Given the description of an element on the screen output the (x, y) to click on. 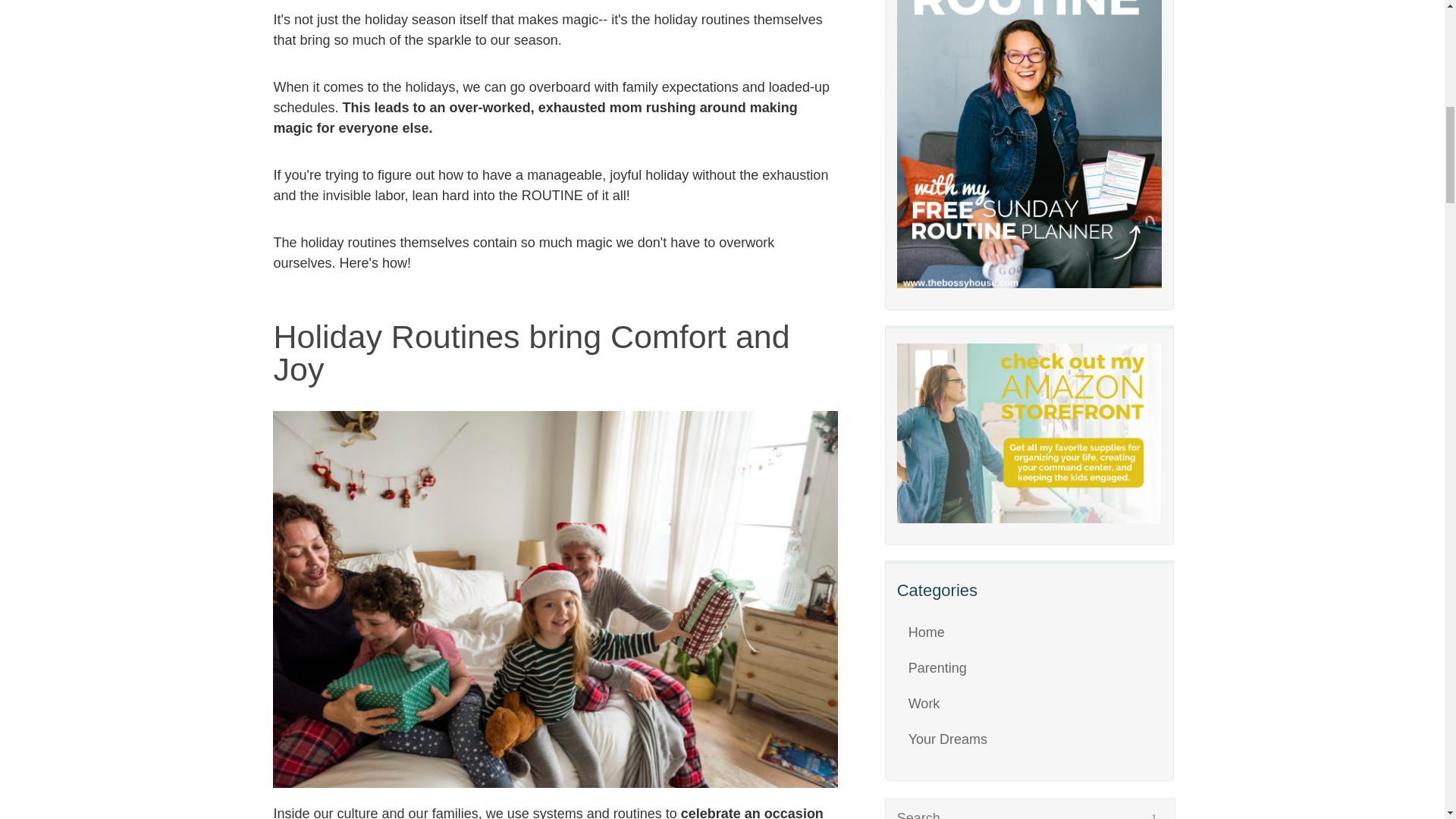
Parenting (937, 667)
Work (924, 703)
Your Dreams (947, 739)
Home (926, 631)
